Given the description of an element on the screen output the (x, y) to click on. 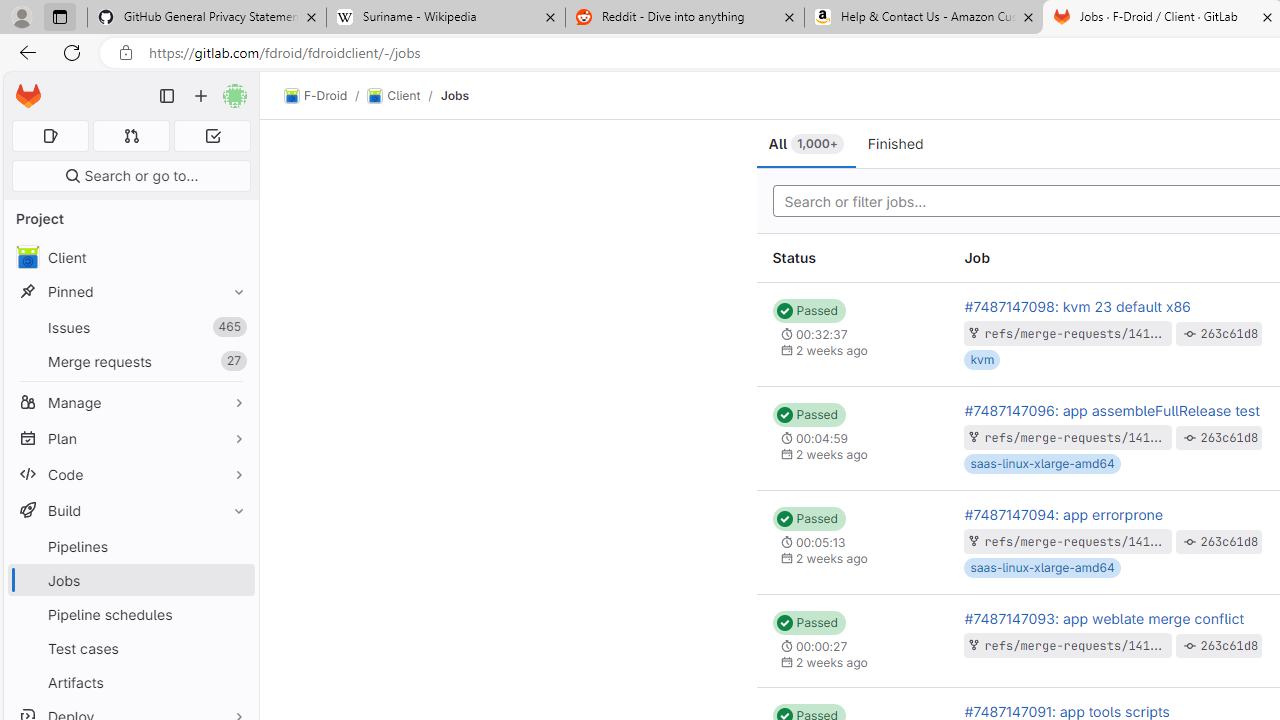
Test cases (130, 648)
Manage (130, 402)
Artifacts (130, 682)
Code (130, 474)
Merge requests27 (130, 361)
#7487147096: app assembleFullRelease test (1111, 410)
Suriname - Wikipedia (445, 17)
All 1,000+ (806, 143)
